Given the description of an element on the screen output the (x, y) to click on. 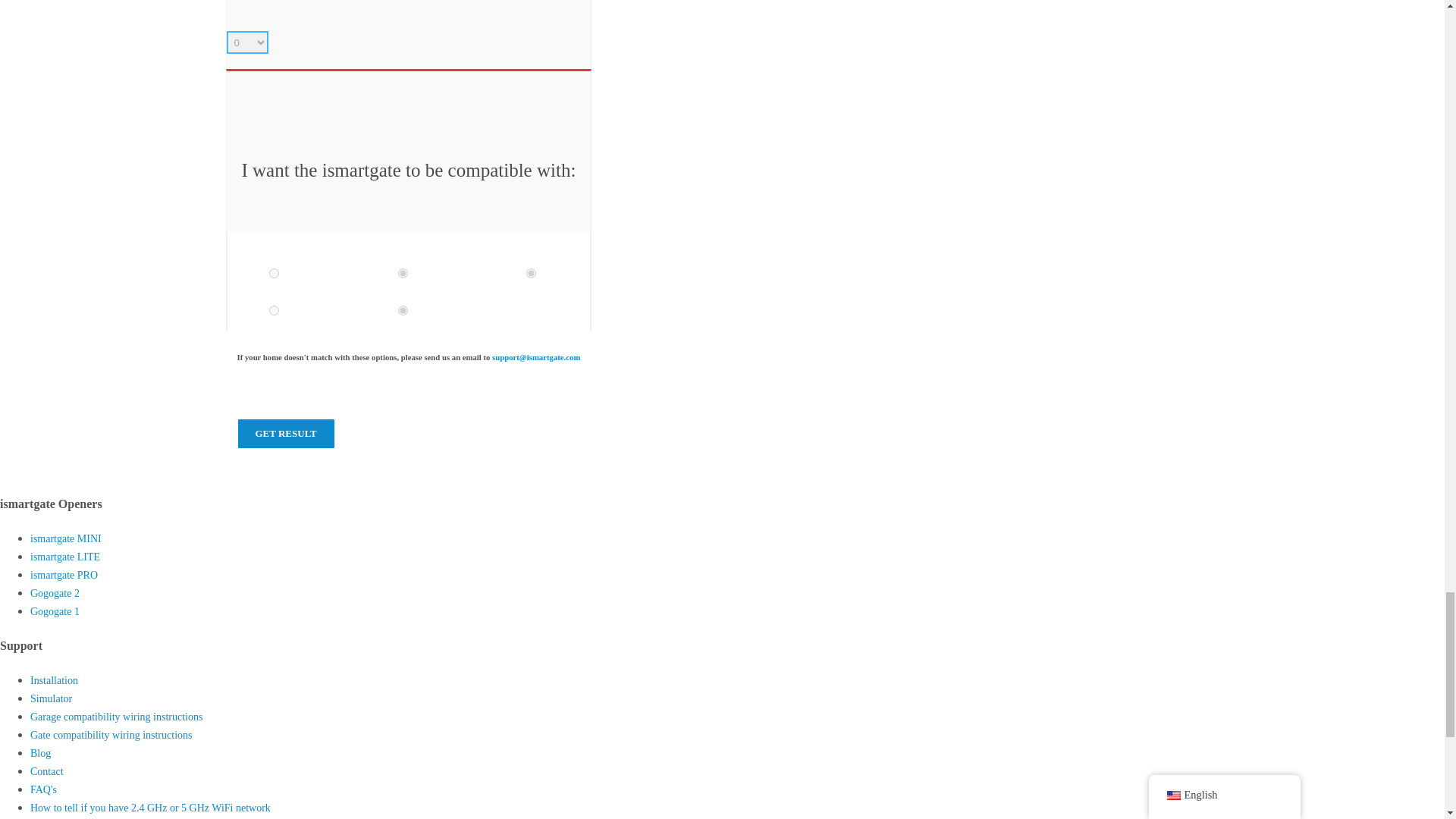
0 (274, 273)
1 (402, 310)
1 (530, 273)
0 (274, 310)
1 (402, 273)
